Given the description of an element on the screen output the (x, y) to click on. 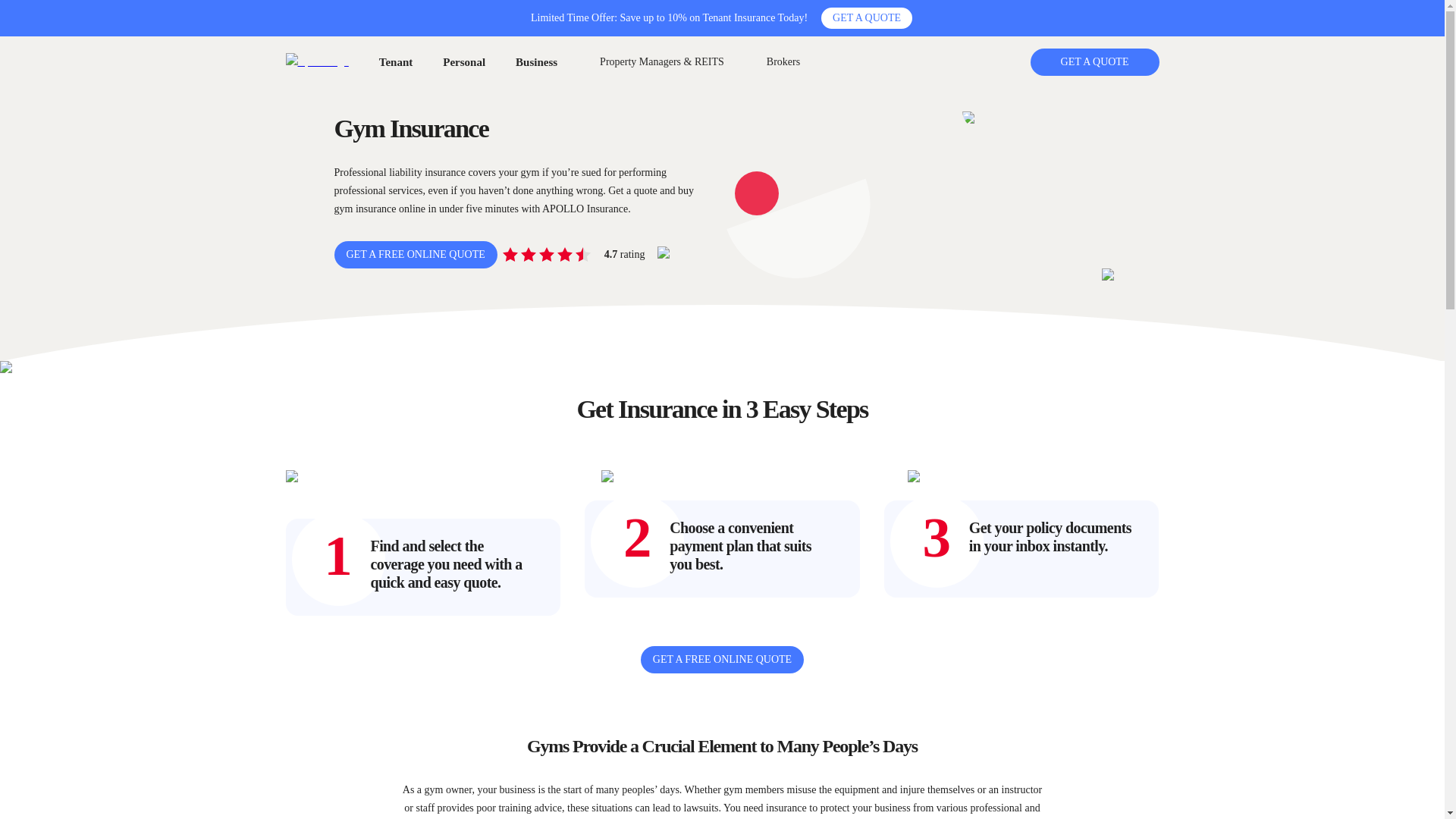
GET A QUOTE (866, 17)
GET A FREE ONLINE QUOTE (721, 659)
GET A QUOTE (1093, 62)
Business (536, 61)
GET A FREE ONLINE QUOTE (414, 254)
Brokers (783, 61)
Tenant (395, 61)
Personal (463, 61)
